Given the description of an element on the screen output the (x, y) to click on. 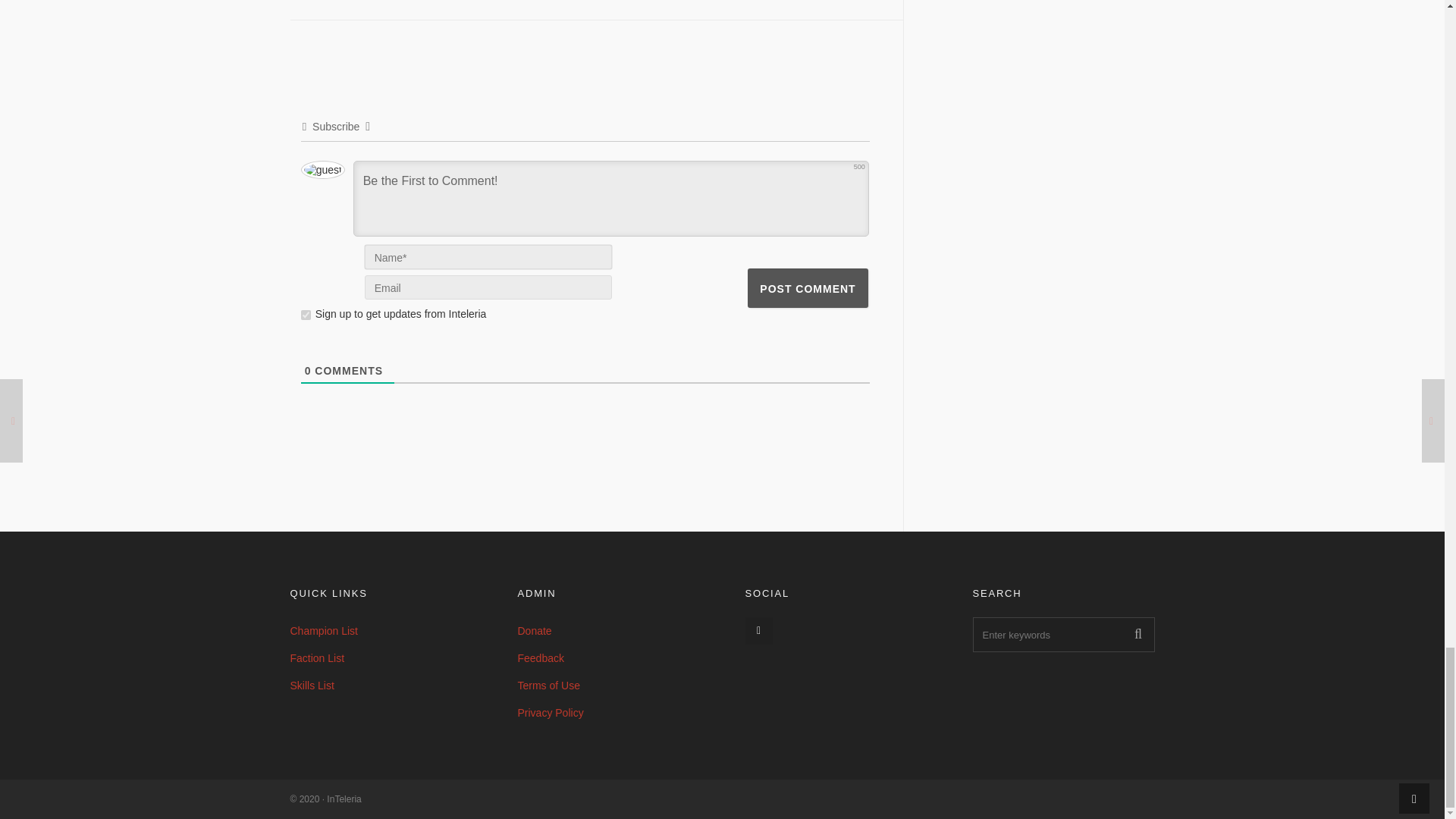
Post Comment (807, 287)
1 (306, 315)
